Given the description of an element on the screen output the (x, y) to click on. 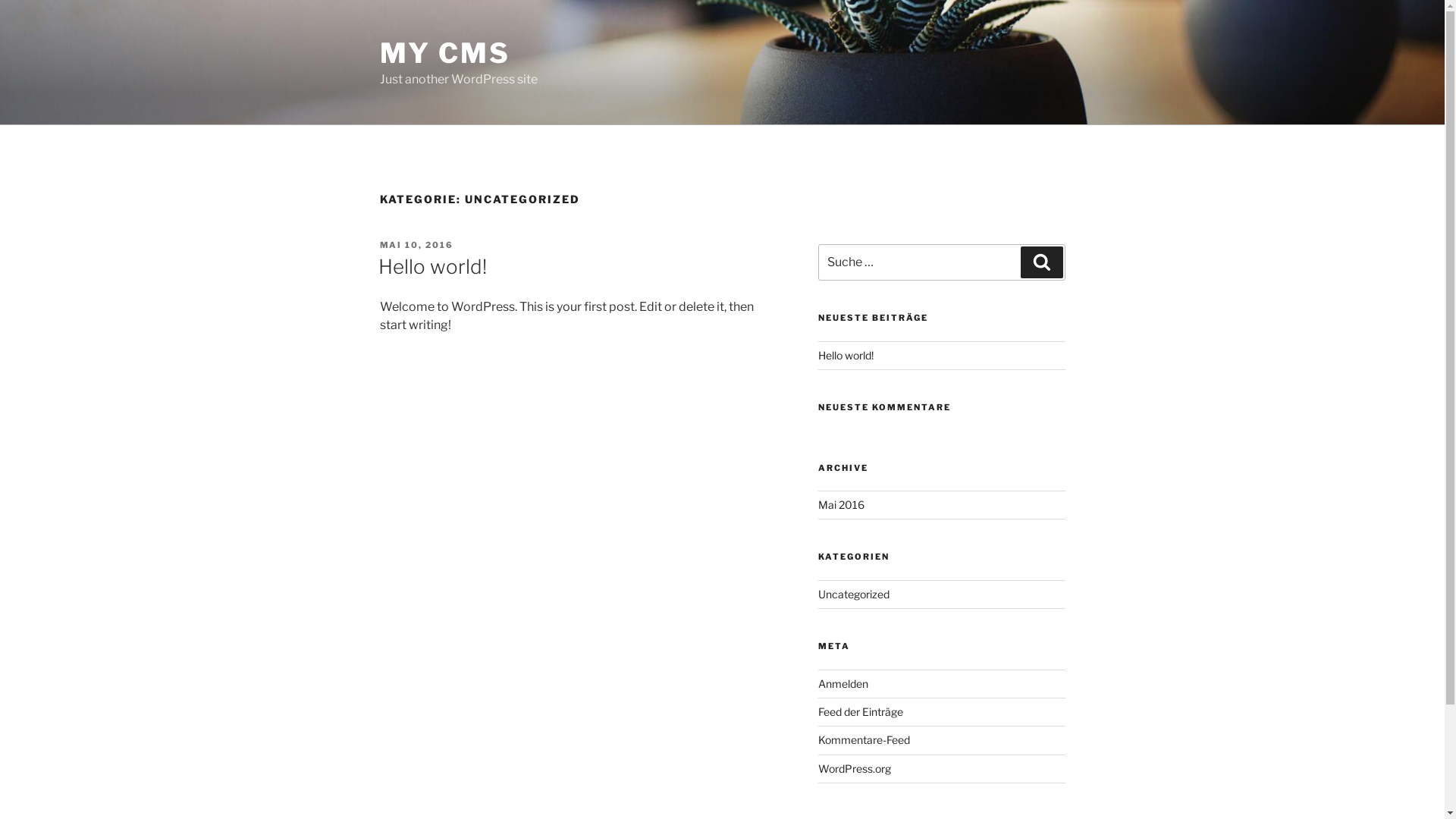
Anmelden Element type: text (843, 683)
Hello world! Element type: text (431, 266)
Hello world! Element type: text (845, 354)
WordPress.org Element type: text (854, 768)
Kommentare-Feed Element type: text (864, 739)
Suchen Element type: text (1041, 262)
MAI 10, 2016 Element type: text (416, 244)
Uncategorized Element type: text (853, 593)
MY CMS Element type: text (444, 52)
Mai 2016 Element type: text (841, 504)
